Given the description of an element on the screen output the (x, y) to click on. 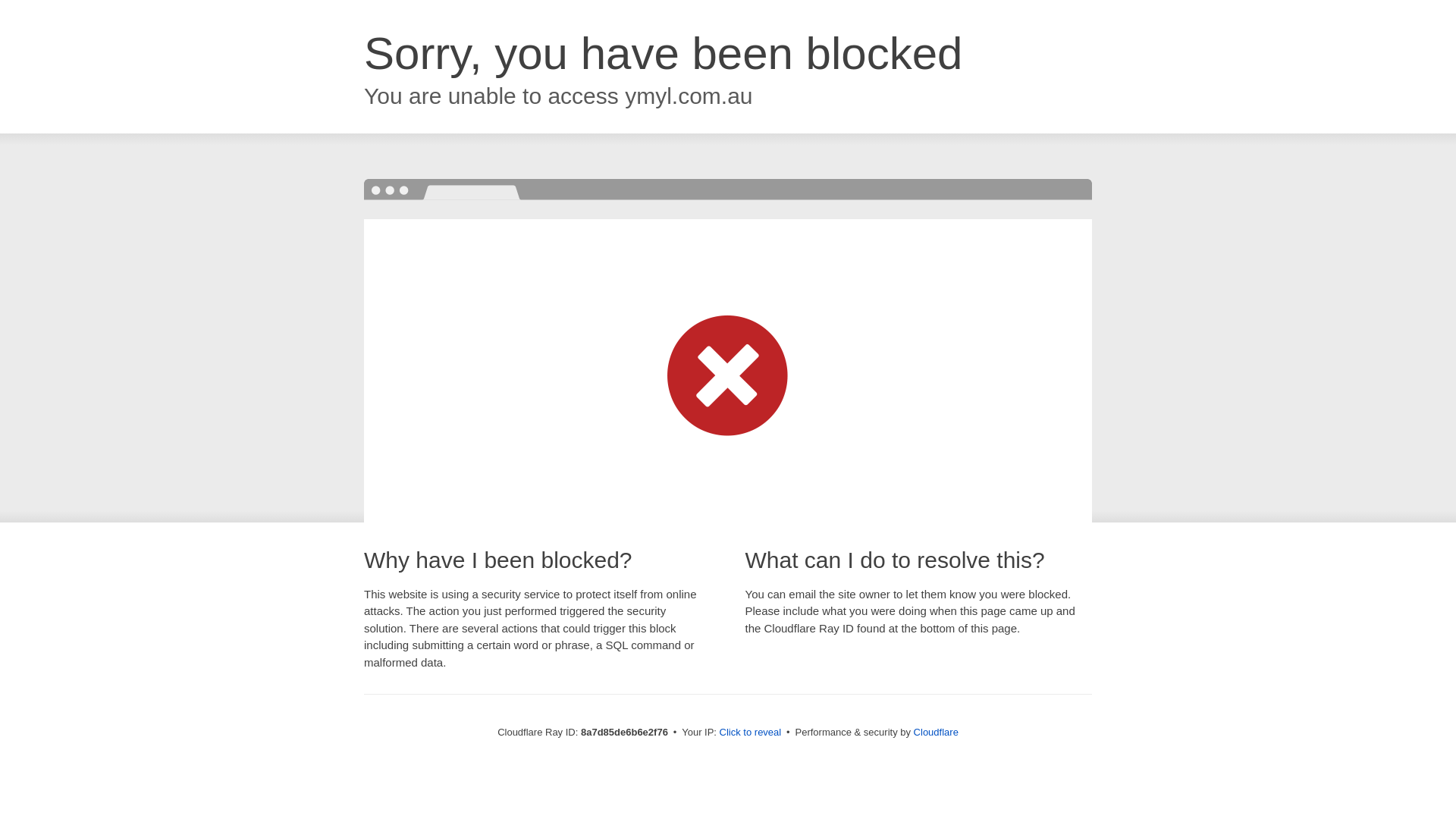
Cloudflare (936, 731)
Click to reveal (750, 732)
